Given the description of an element on the screen output the (x, y) to click on. 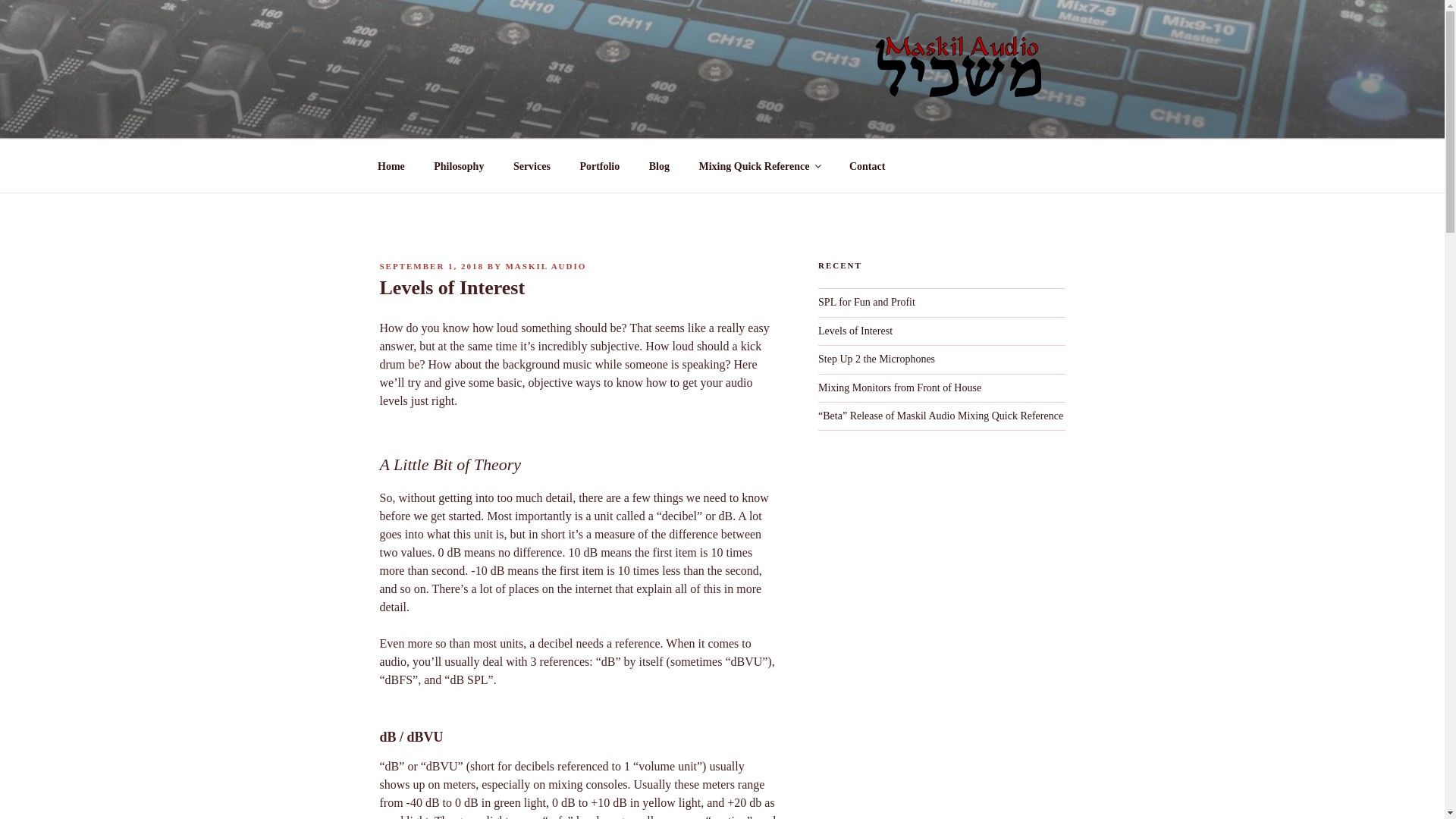
MASKIL AUDIO (545, 266)
SEPTEMBER 1, 2018 (430, 266)
Blog (658, 165)
Services (531, 165)
Philosophy (458, 165)
Home (390, 165)
Contact (866, 165)
Portfolio (599, 165)
MASKIL AUDIO (494, 119)
Mixing Quick Reference (758, 165)
